Given the description of an element on the screen output the (x, y) to click on. 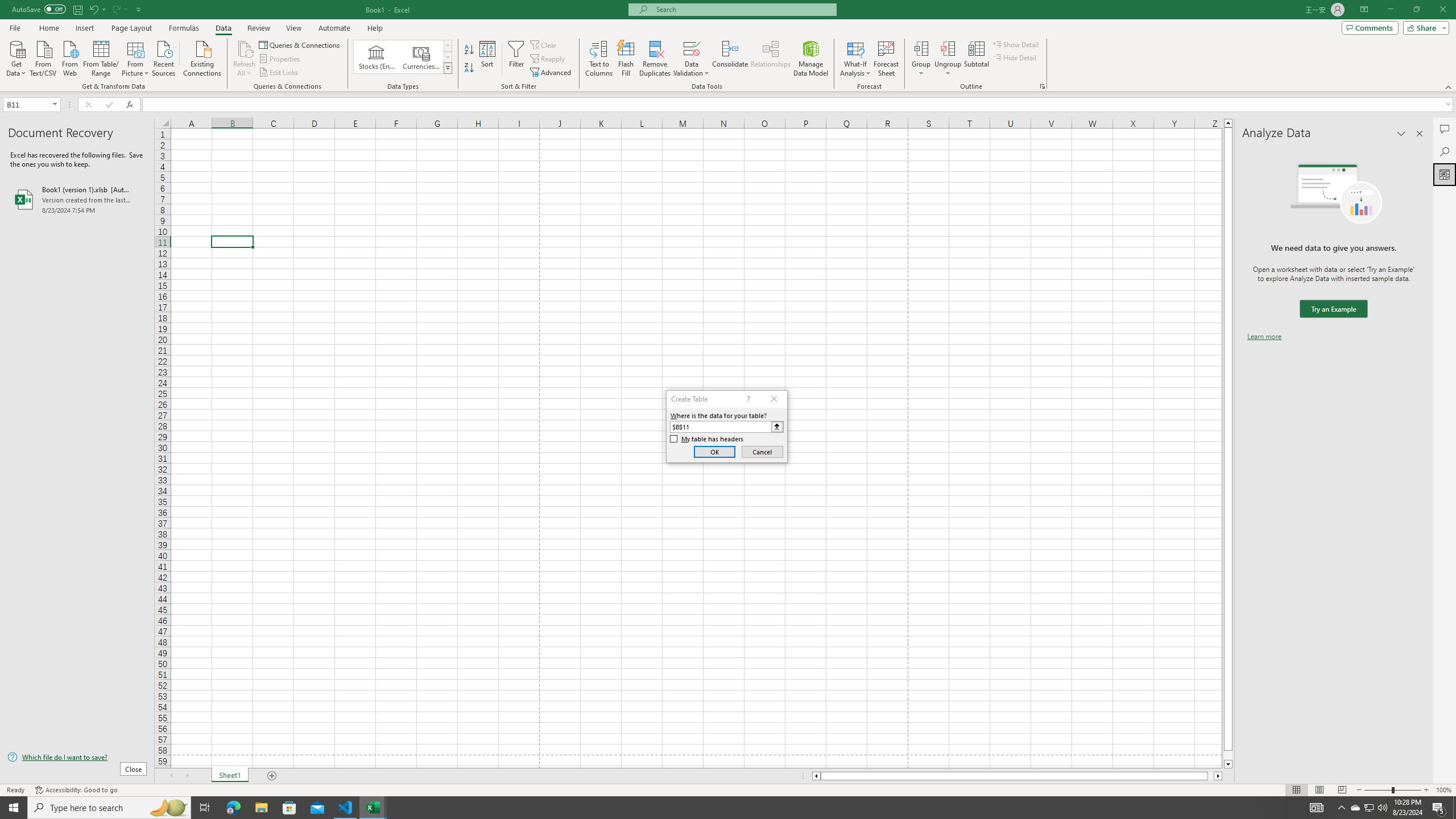
Consolidate... (729, 58)
